Given the description of an element on the screen output the (x, y) to click on. 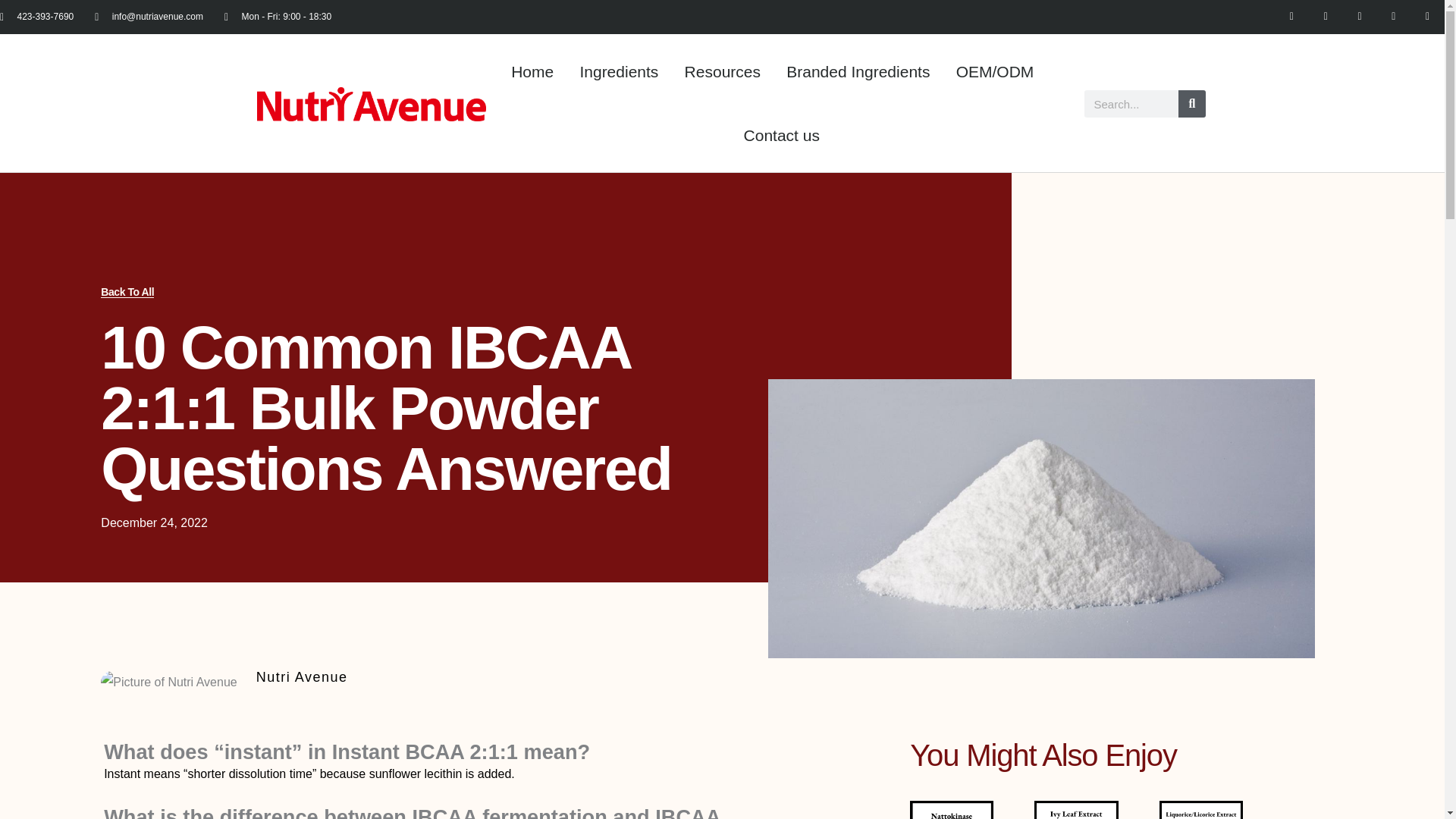
Contact us (781, 135)
423-393-7690 (37, 16)
Pinterest (1392, 17)
Twitter (1359, 17)
Ingredients (618, 72)
Facebook-f (1325, 17)
Home (531, 72)
Linkedin (1291, 17)
Resources (721, 72)
Branded Ingredients (858, 72)
